Given the description of an element on the screen output the (x, y) to click on. 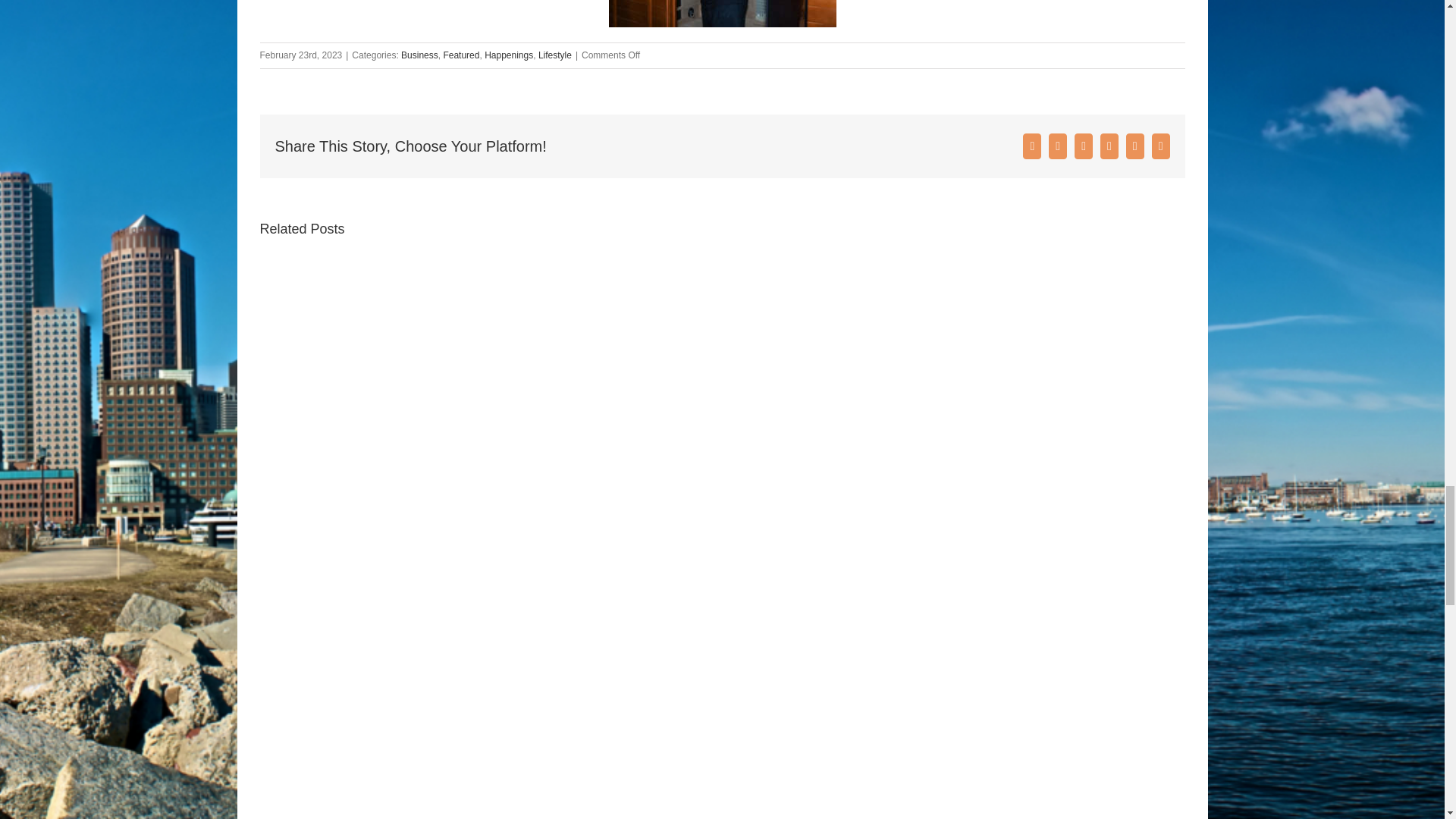
Happenings (508, 54)
Business (419, 54)
Featured (460, 54)
Lifestyle (555, 54)
